Given the description of an element on the screen output the (x, y) to click on. 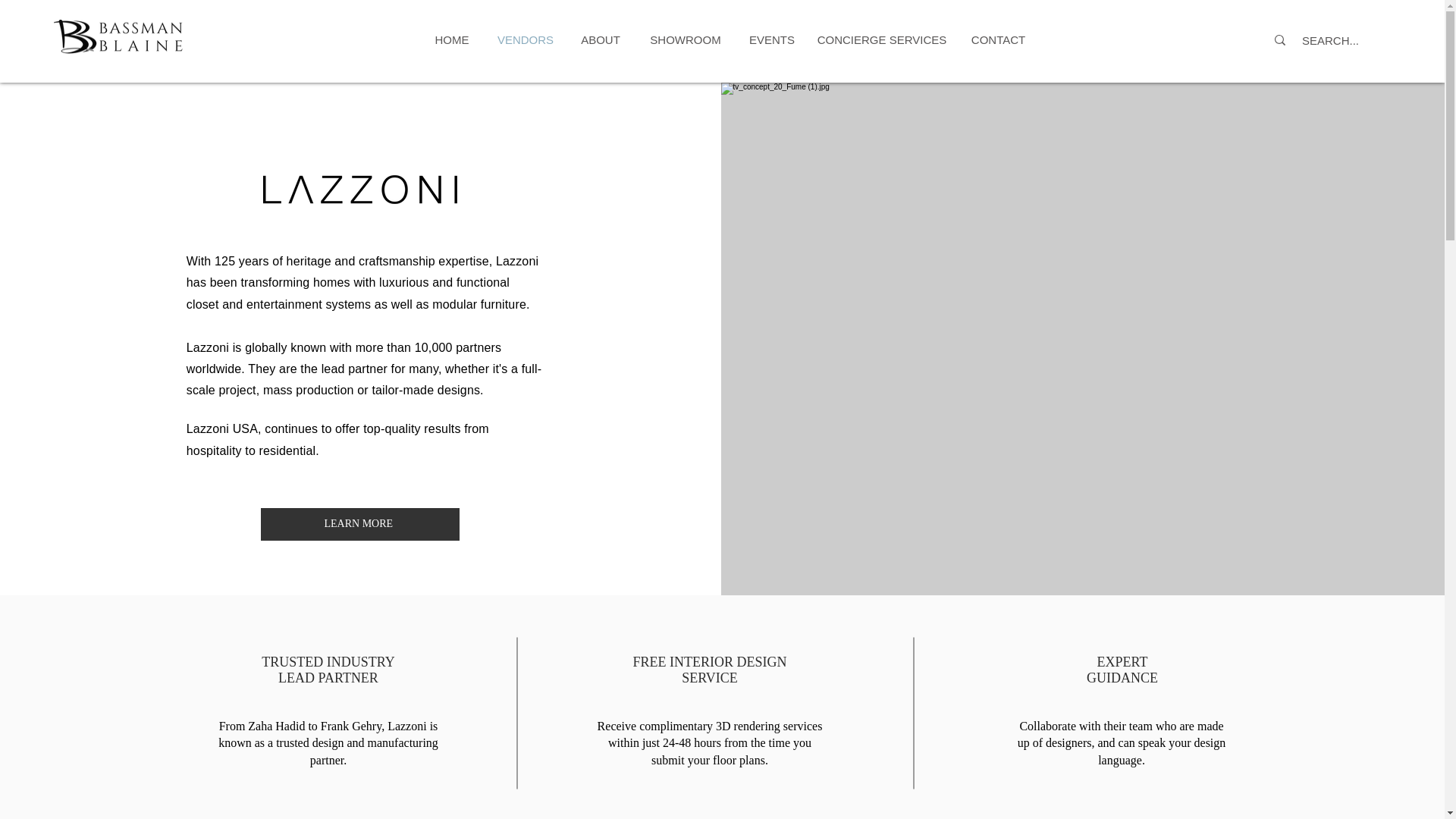
EVENTS (772, 39)
CONTACT (998, 39)
CONCIERGE SERVICES (881, 39)
LEARN MORE (360, 523)
SHOWROOM (684, 39)
ABOUT (600, 39)
HOME (452, 39)
VENDORS (524, 39)
